Given the description of an element on the screen output the (x, y) to click on. 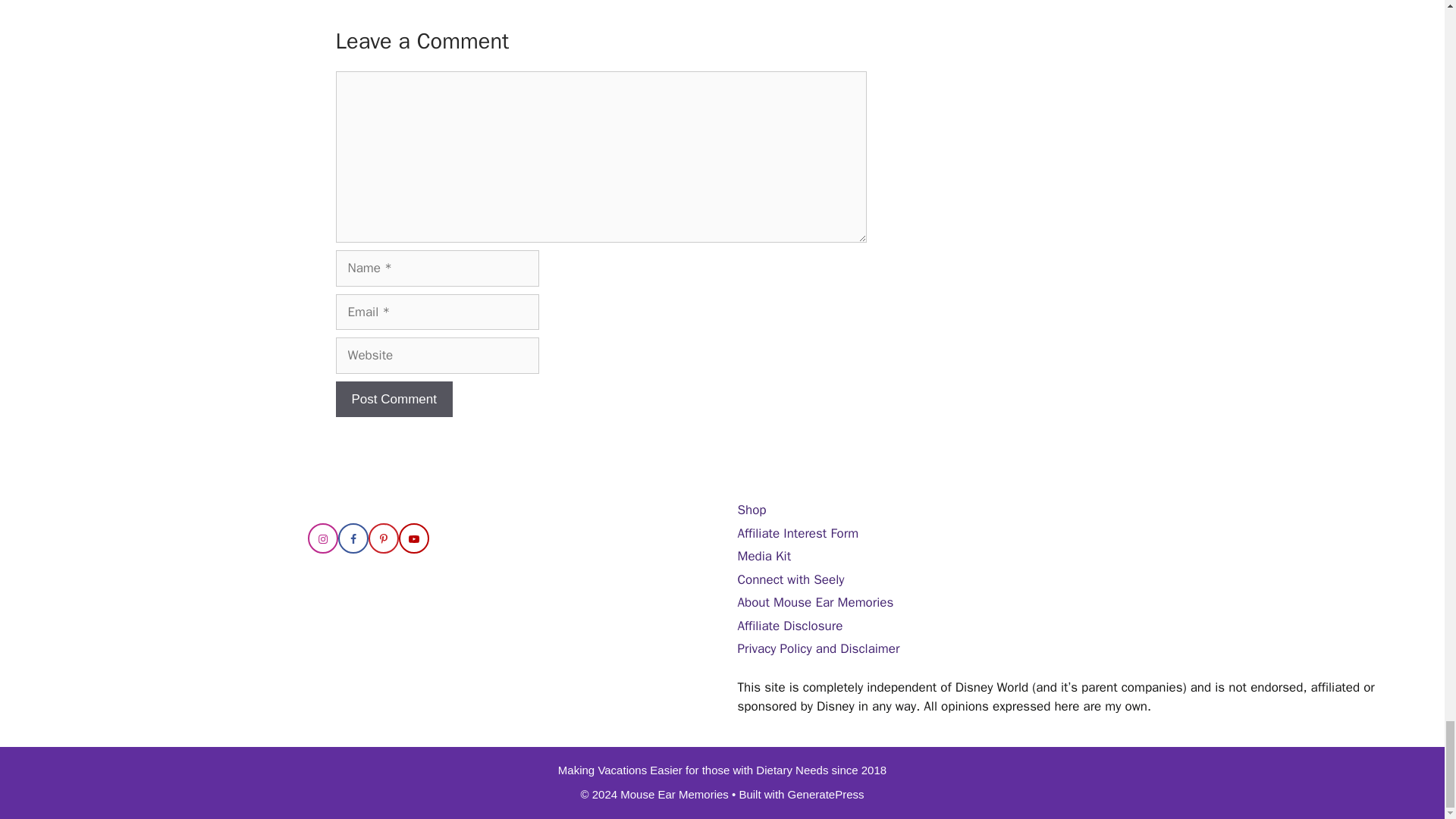
Post Comment (392, 399)
